Given the description of an element on the screen output the (x, y) to click on. 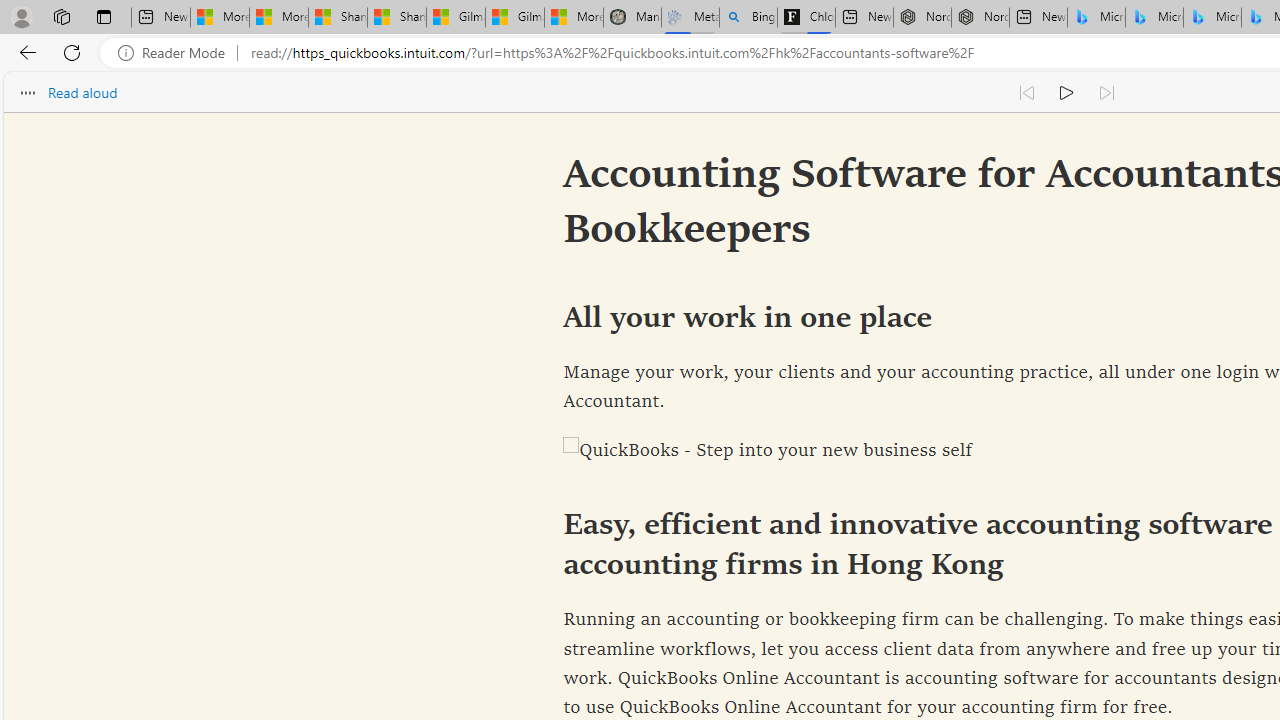
Read previous paragraph (1026, 92)
Chloe Sorvino (806, 17)
